Given the description of an element on the screen output the (x, y) to click on. 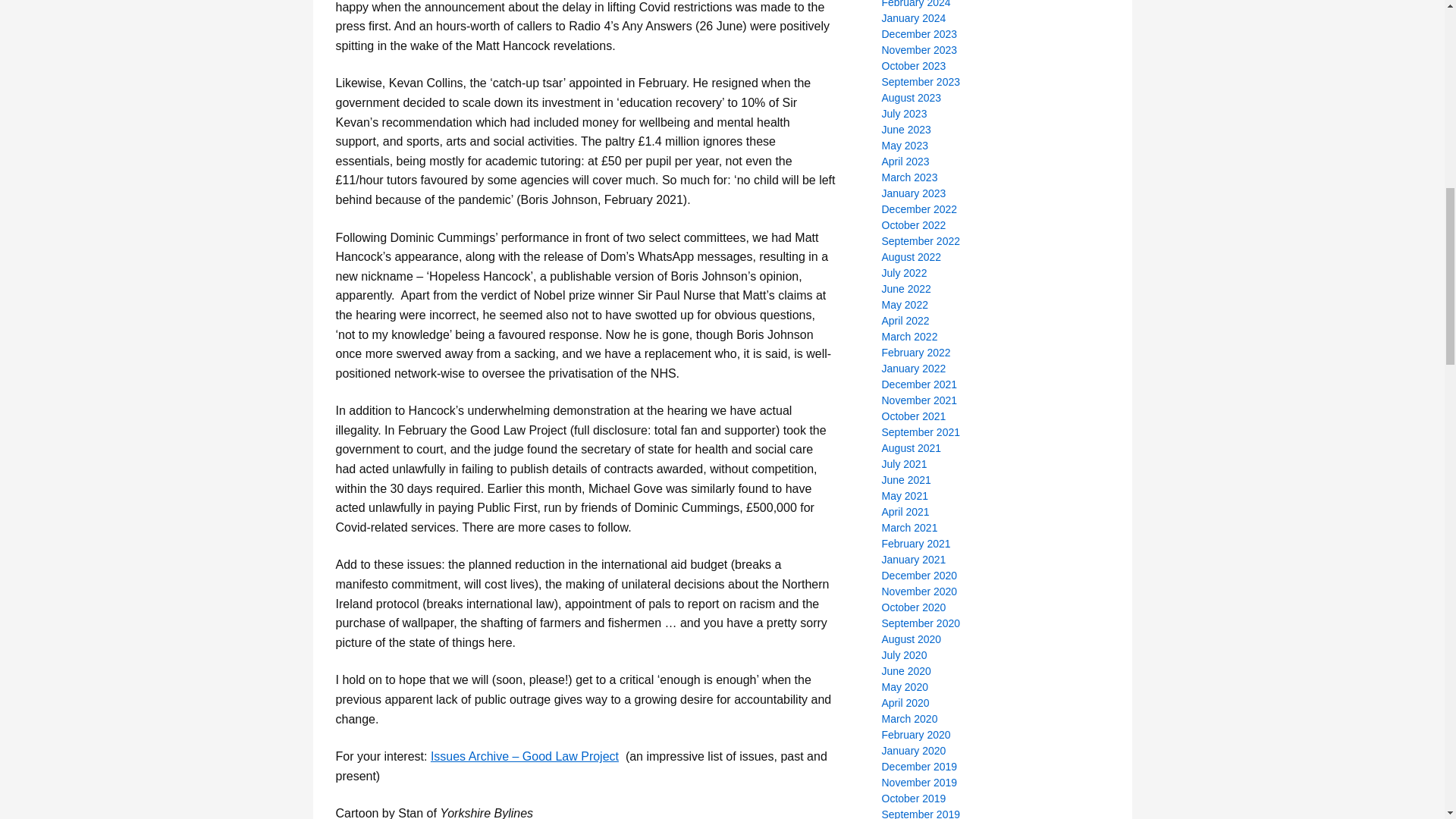
September 2023 (919, 81)
November 2023 (918, 50)
February 2024 (915, 4)
December 2023 (918, 33)
January 2024 (912, 18)
October 2023 (912, 65)
